Given the description of an element on the screen output the (x, y) to click on. 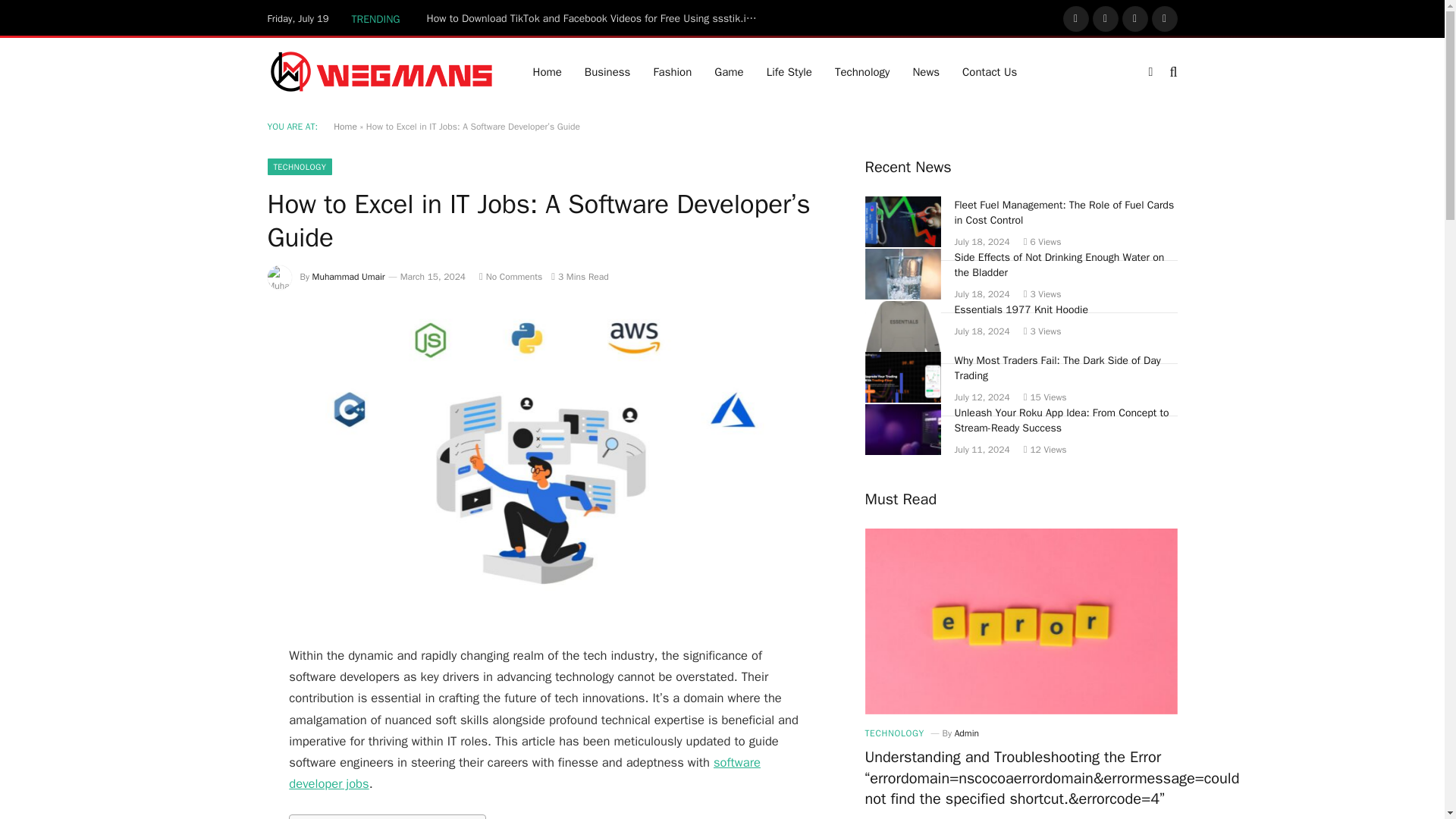
Life Style (789, 71)
Instagram (1135, 18)
Posts by Muhammad Umair (349, 276)
Contact Us (988, 71)
No Comments (510, 276)
TECHNOLOGY (298, 166)
wegmans.co.uk (380, 71)
Business (607, 71)
Facebook (1075, 18)
Technology (862, 71)
Switch to Dark Design - easier on eyes. (1149, 70)
Pinterest (1164, 18)
Home (344, 126)
Muhammad Umair (349, 276)
